Given the description of an element on the screen output the (x, y) to click on. 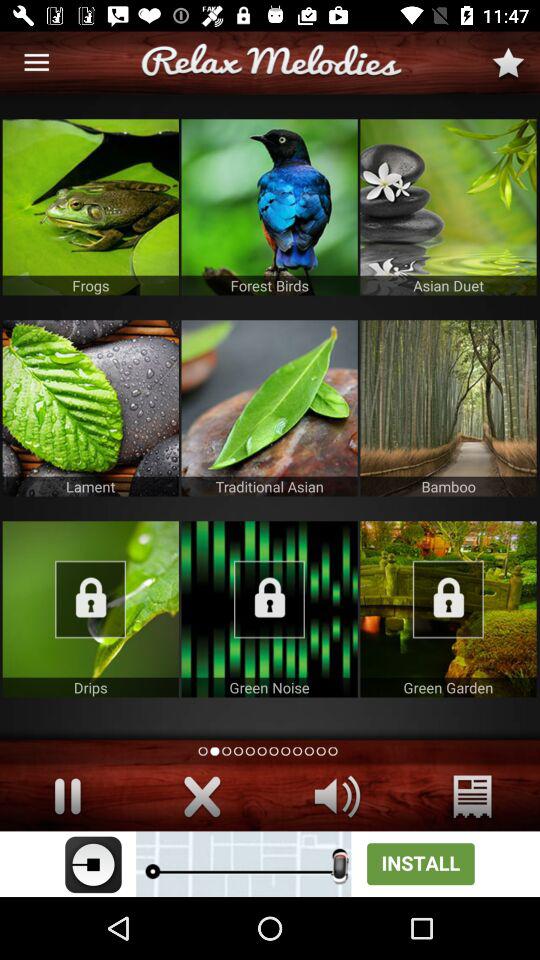
go to image (269, 609)
